Given the description of an element on the screen output the (x, y) to click on. 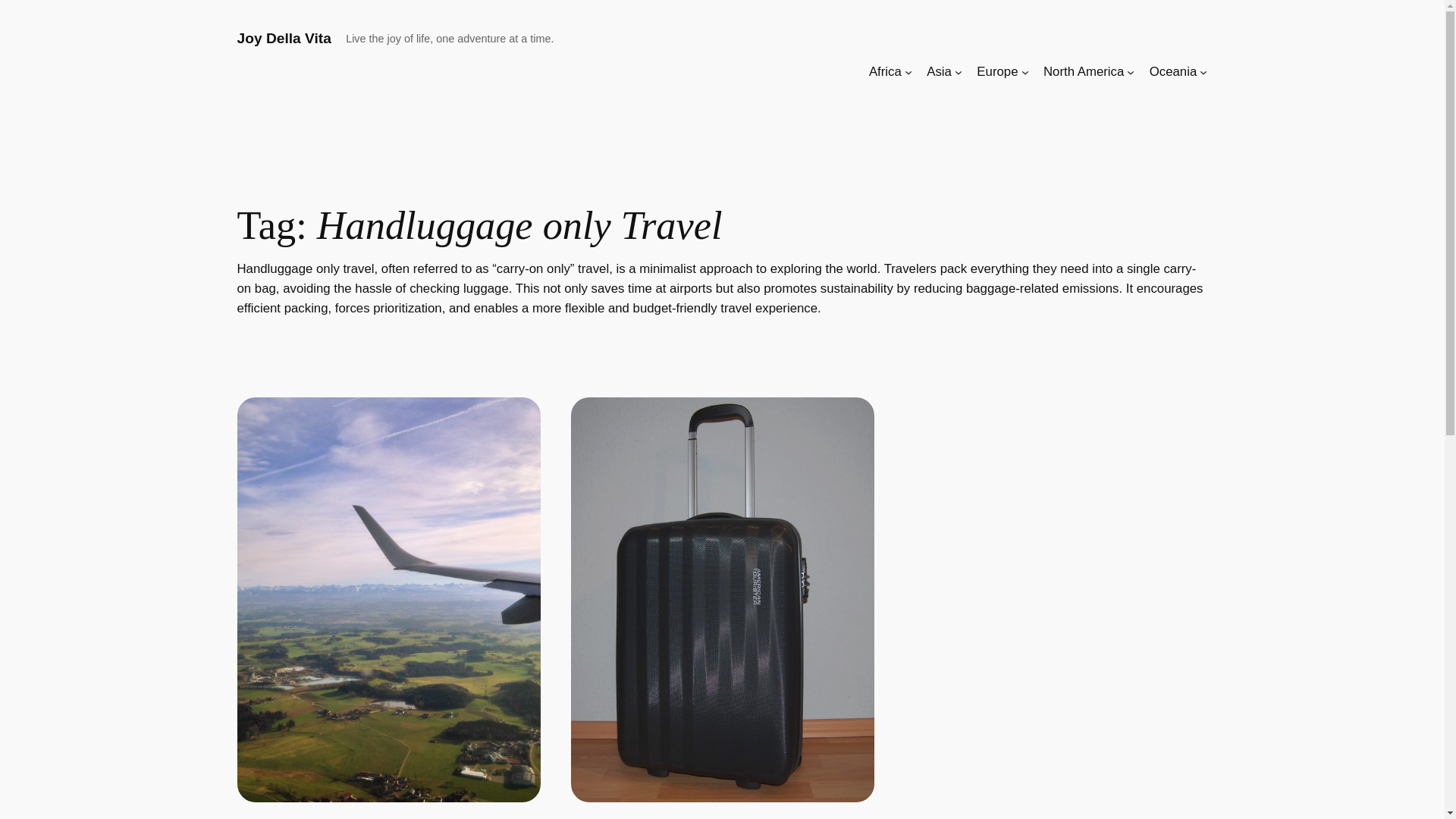
Europe (996, 71)
Africa (885, 71)
Joy Della Vita (282, 37)
Asia (939, 71)
